Given the description of an element on the screen output the (x, y) to click on. 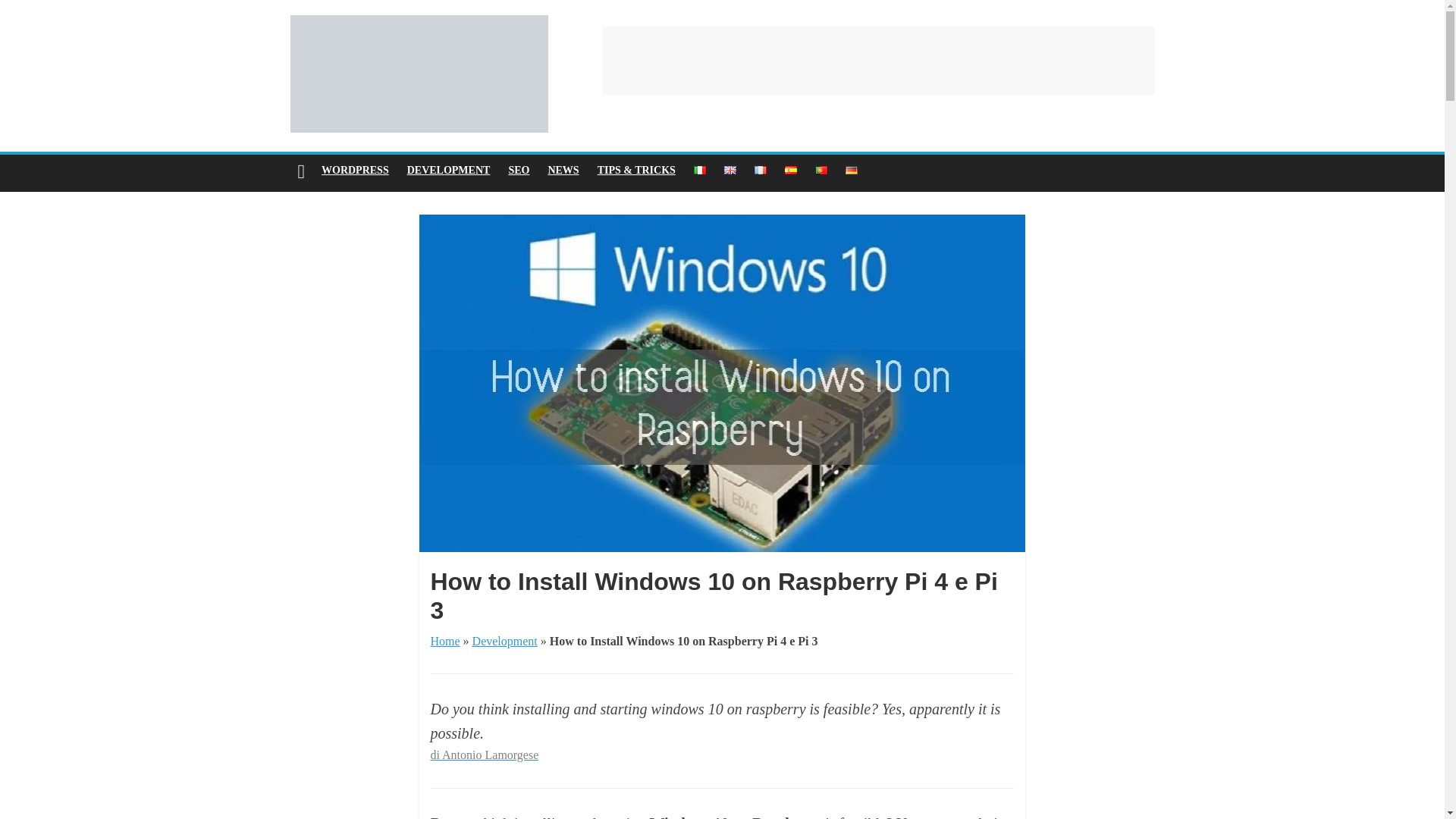
WORDPRESS (355, 170)
di Antonio Lamorgese (484, 754)
Home (445, 640)
NEWS (563, 170)
DEVELOPMENT (448, 170)
SEO (518, 170)
Development (504, 640)
